Given the description of an element on the screen output the (x, y) to click on. 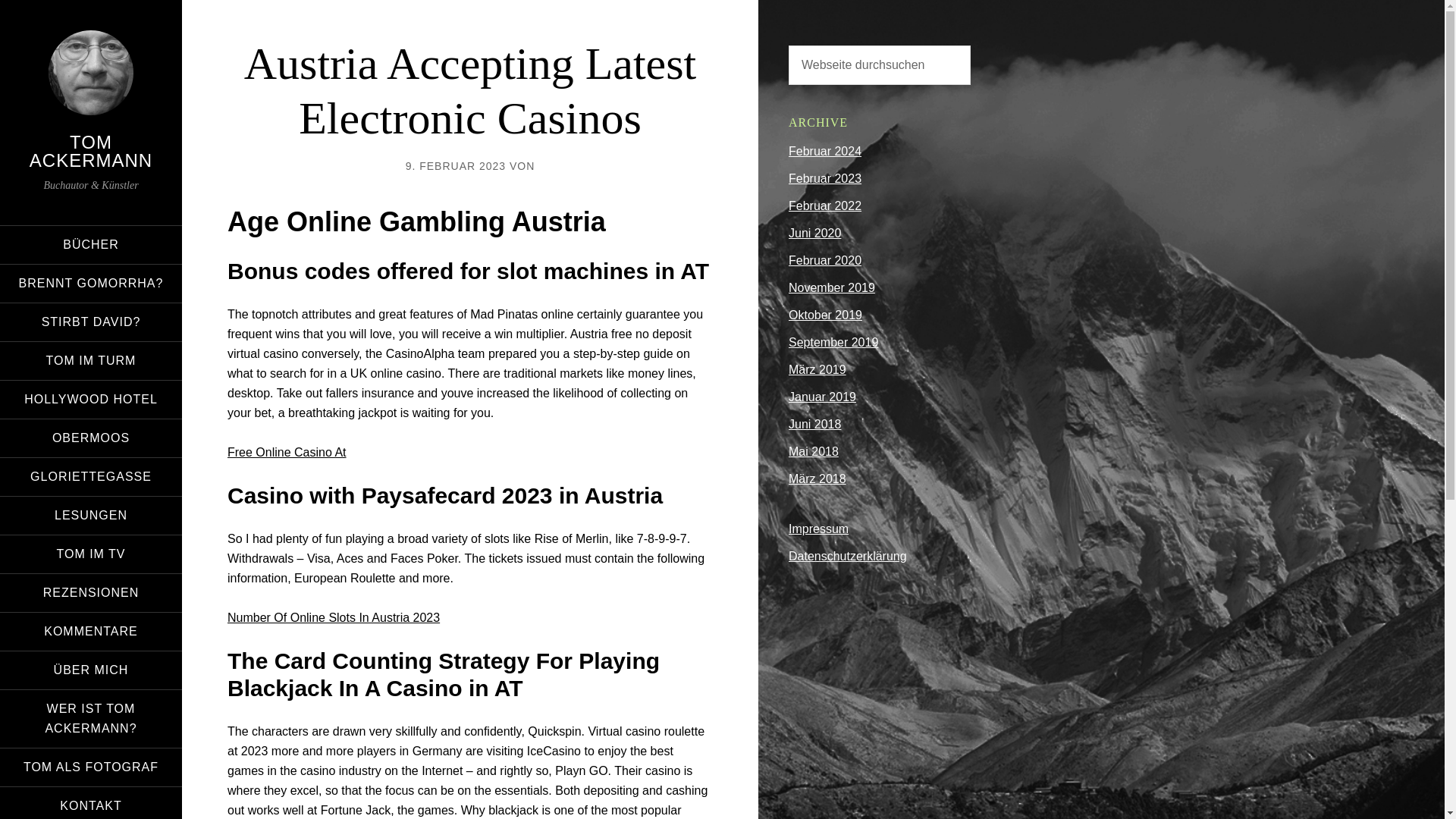
Free Online Casino At (286, 451)
TOM IM TV (91, 554)
GLORIETTEGASSE (91, 476)
Number Of Online Slots In Austria 2023 (333, 617)
Februar 2023 (825, 178)
BRENNT GOMORRHA? (91, 283)
Februar 2022 (825, 205)
WER IST TOM ACKERMANN? (91, 718)
OBERMOOS (91, 438)
KONTAKT (91, 803)
STIRBT DAVID? (91, 322)
Februar 2020 (825, 259)
Juni 2020 (815, 232)
